Given the description of an element on the screen output the (x, y) to click on. 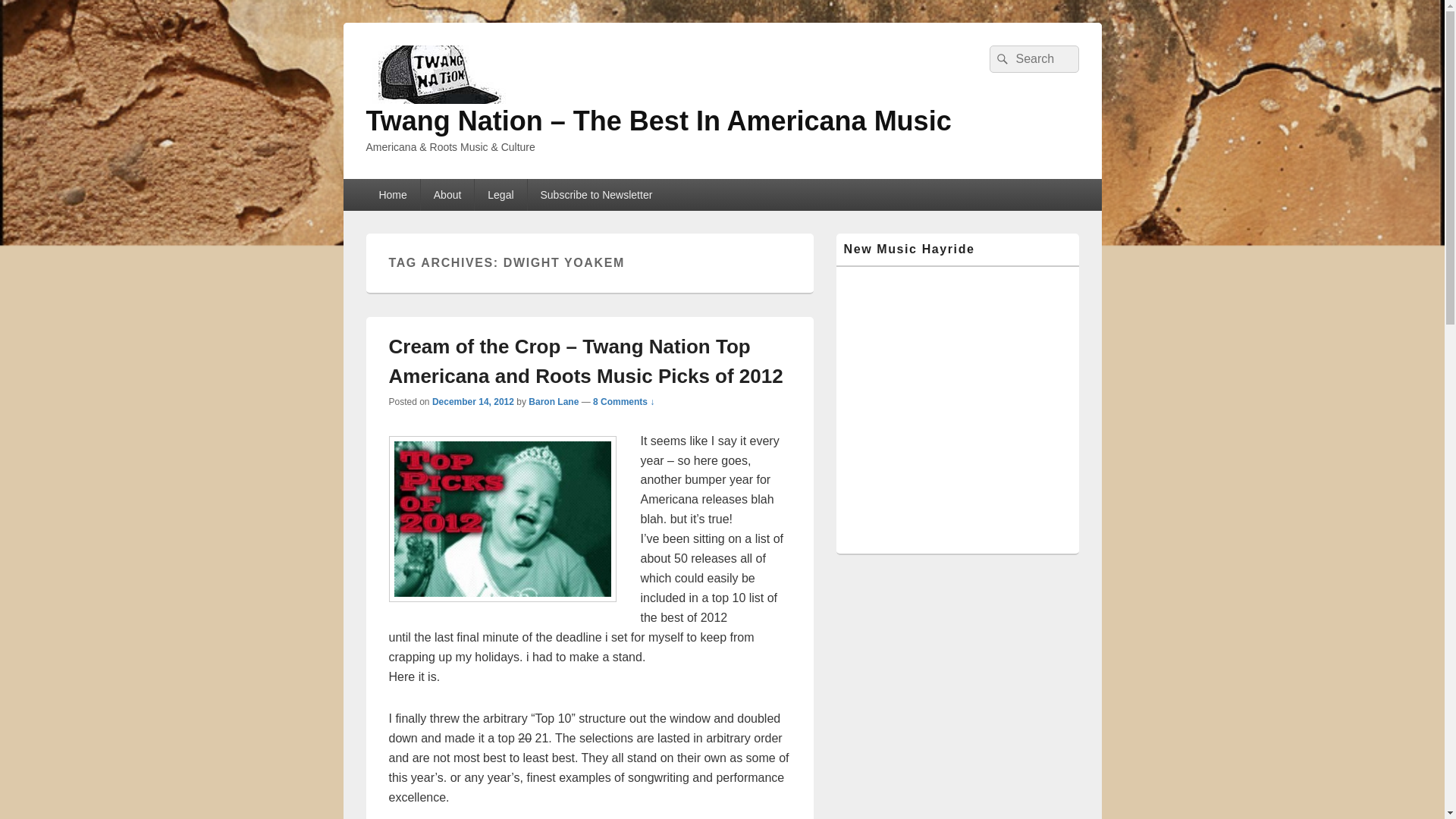
12:57 pm (472, 401)
Legal (499, 194)
View all posts by Baron Lane (553, 401)
Baron Lane (553, 401)
Home (392, 194)
About (447, 194)
Search for: (1033, 58)
Subscribe to Newsletter (596, 194)
December 14, 2012 (472, 401)
